Given the description of an element on the screen output the (x, y) to click on. 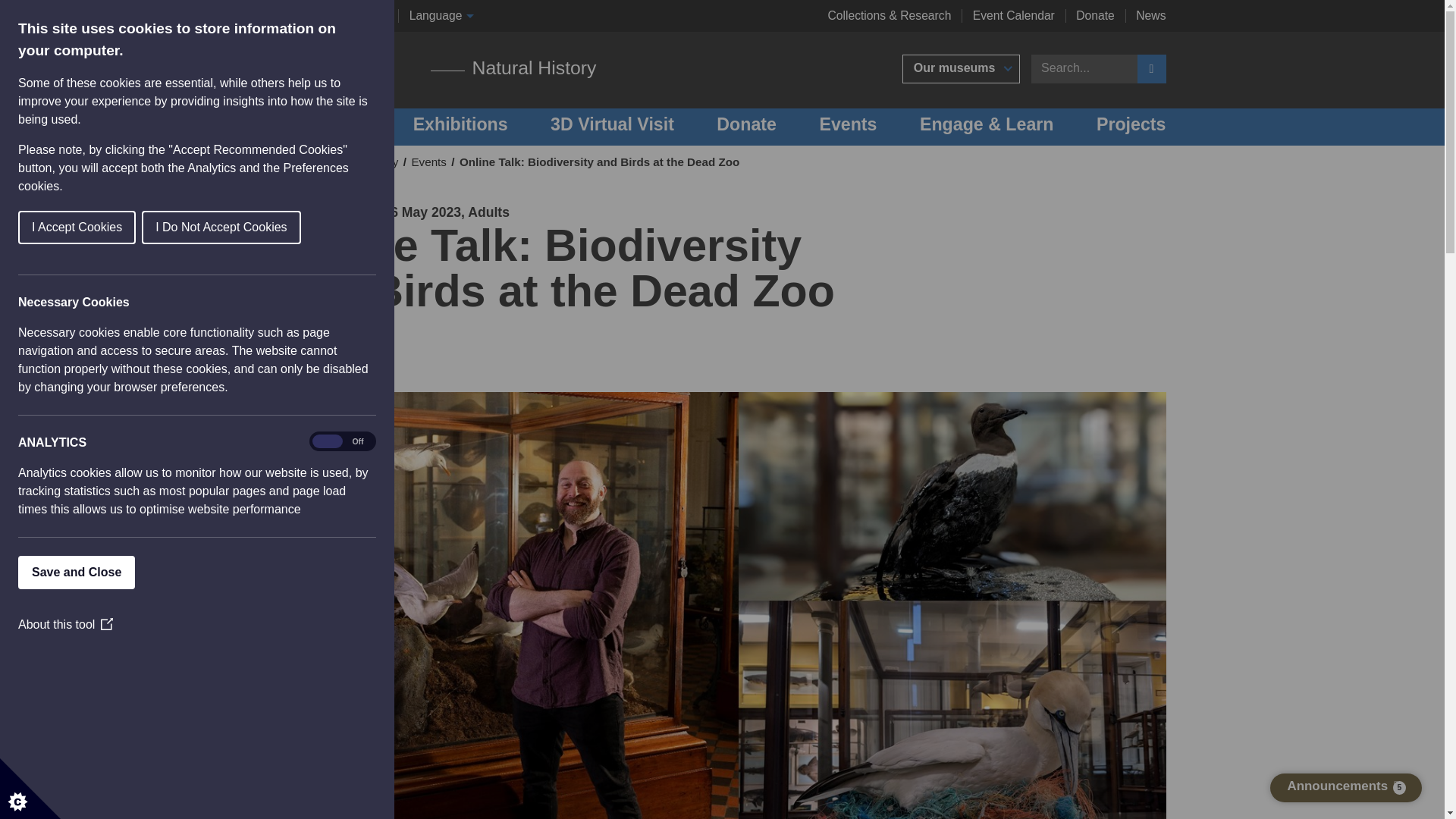
Donate (1095, 15)
Events (847, 127)
Event Calendar (1013, 15)
Visitor Info (325, 127)
3D Virtual Visit (612, 127)
Exhibitions (460, 127)
Accessibility Options (333, 15)
News (1150, 15)
Search (1151, 68)
Donate (746, 127)
Projects (1131, 127)
